Given the description of an element on the screen output the (x, y) to click on. 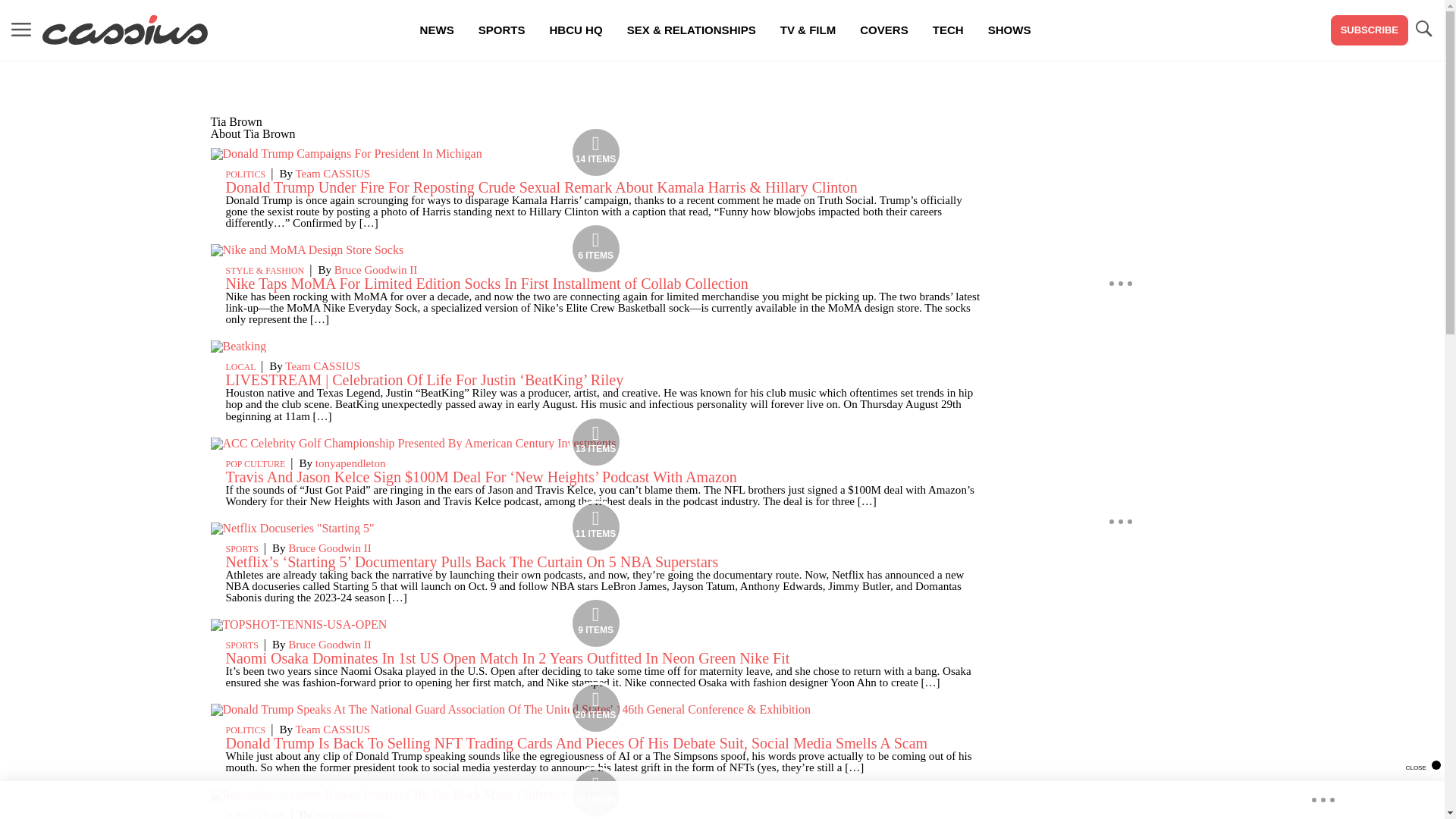
6 ITEMS (307, 249)
Bruce Goodwin II (329, 644)
POLITICS (245, 173)
20 ITEMS (510, 708)
TOGGLE SEARCH (1422, 30)
NEWS (436, 30)
SPORTS (242, 548)
Team CASSIUS (332, 173)
POP CULTURE (255, 463)
13 ITEMS (413, 442)
